Given the description of an element on the screen output the (x, y) to click on. 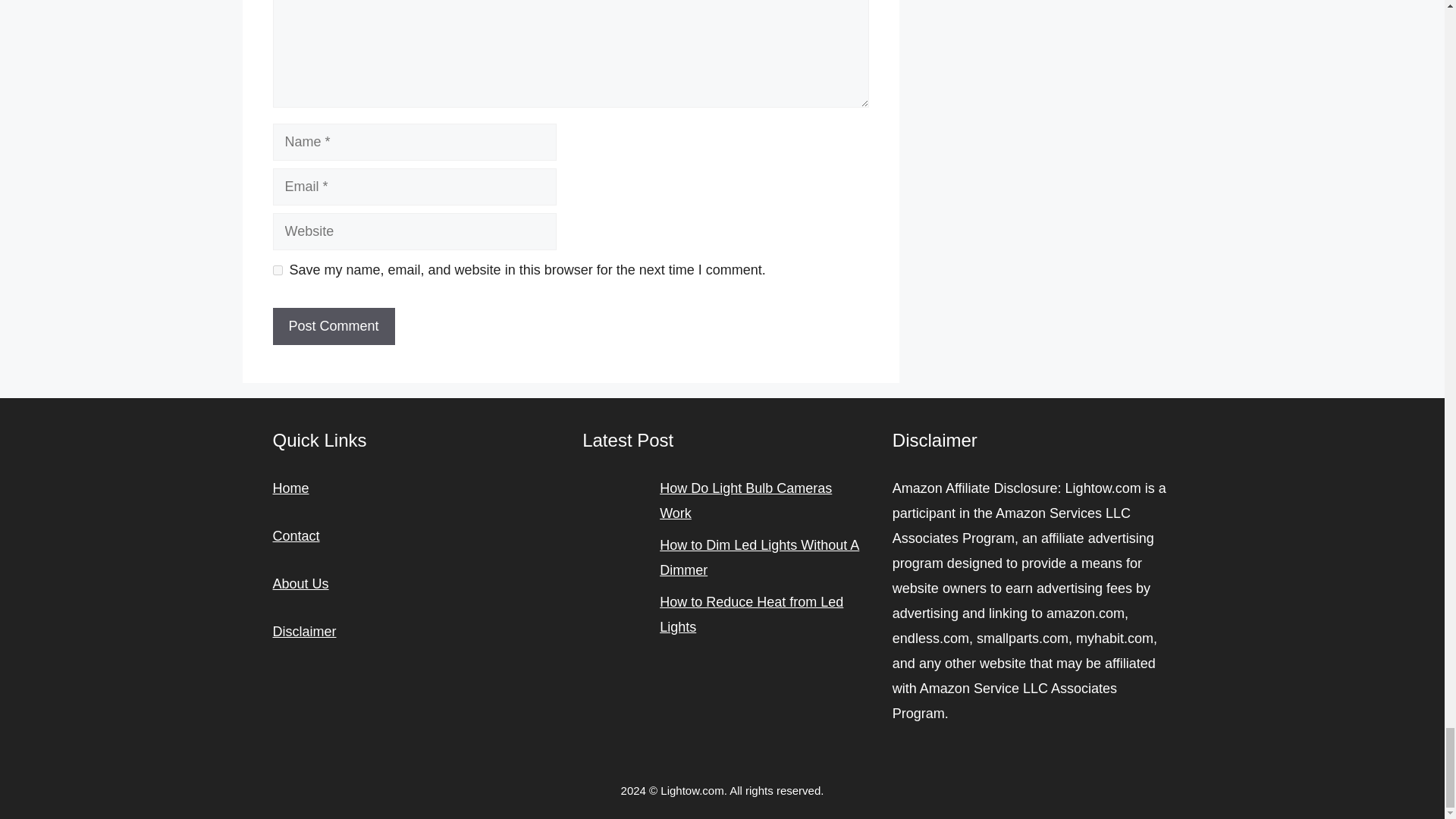
yes (277, 270)
About Us (301, 583)
Contact (296, 535)
Post Comment (333, 325)
Home (290, 488)
Post Comment (333, 325)
